Given the description of an element on the screen output the (x, y) to click on. 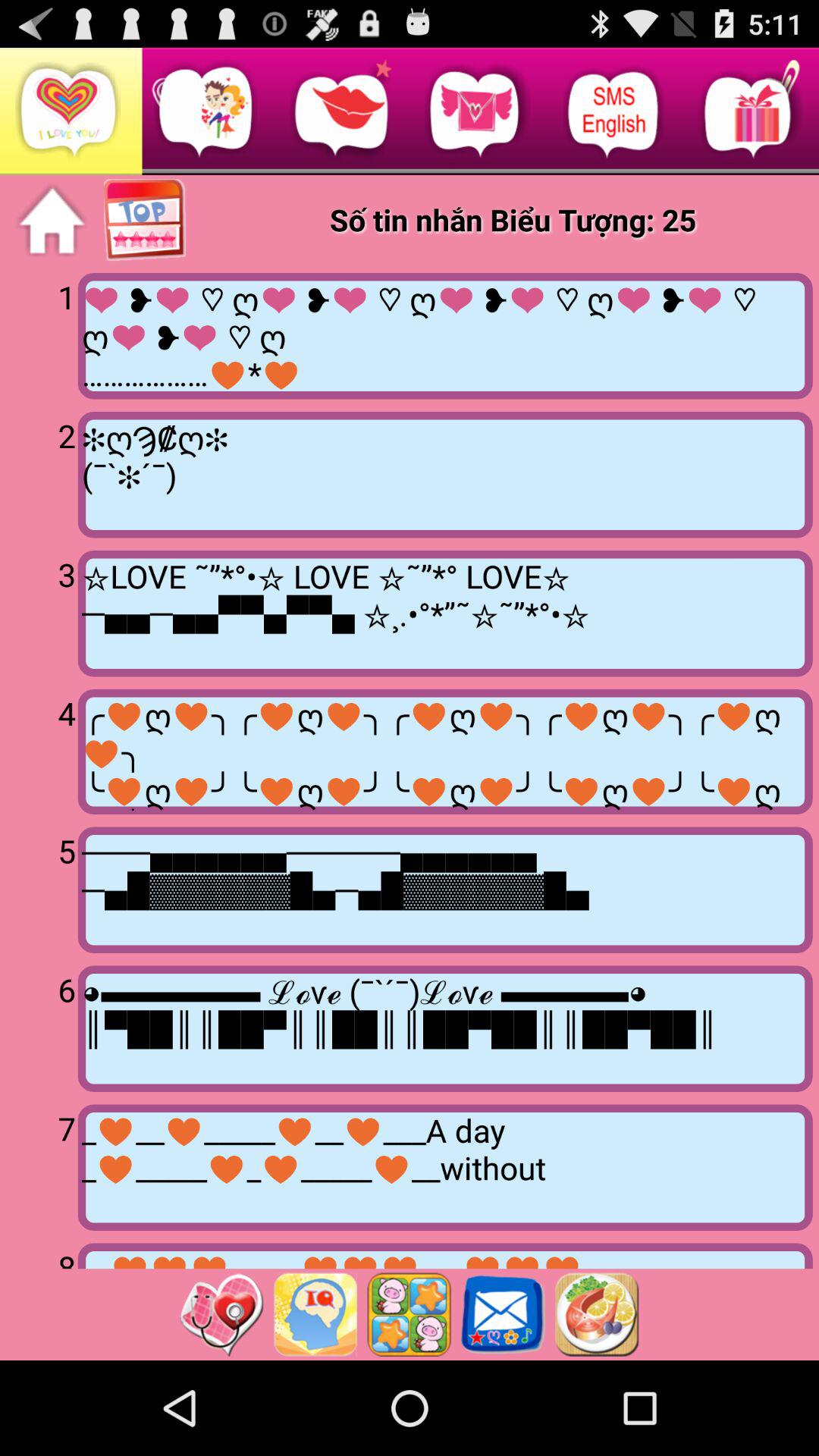
flip to 2 (41, 472)
